Given the description of an element on the screen output the (x, y) to click on. 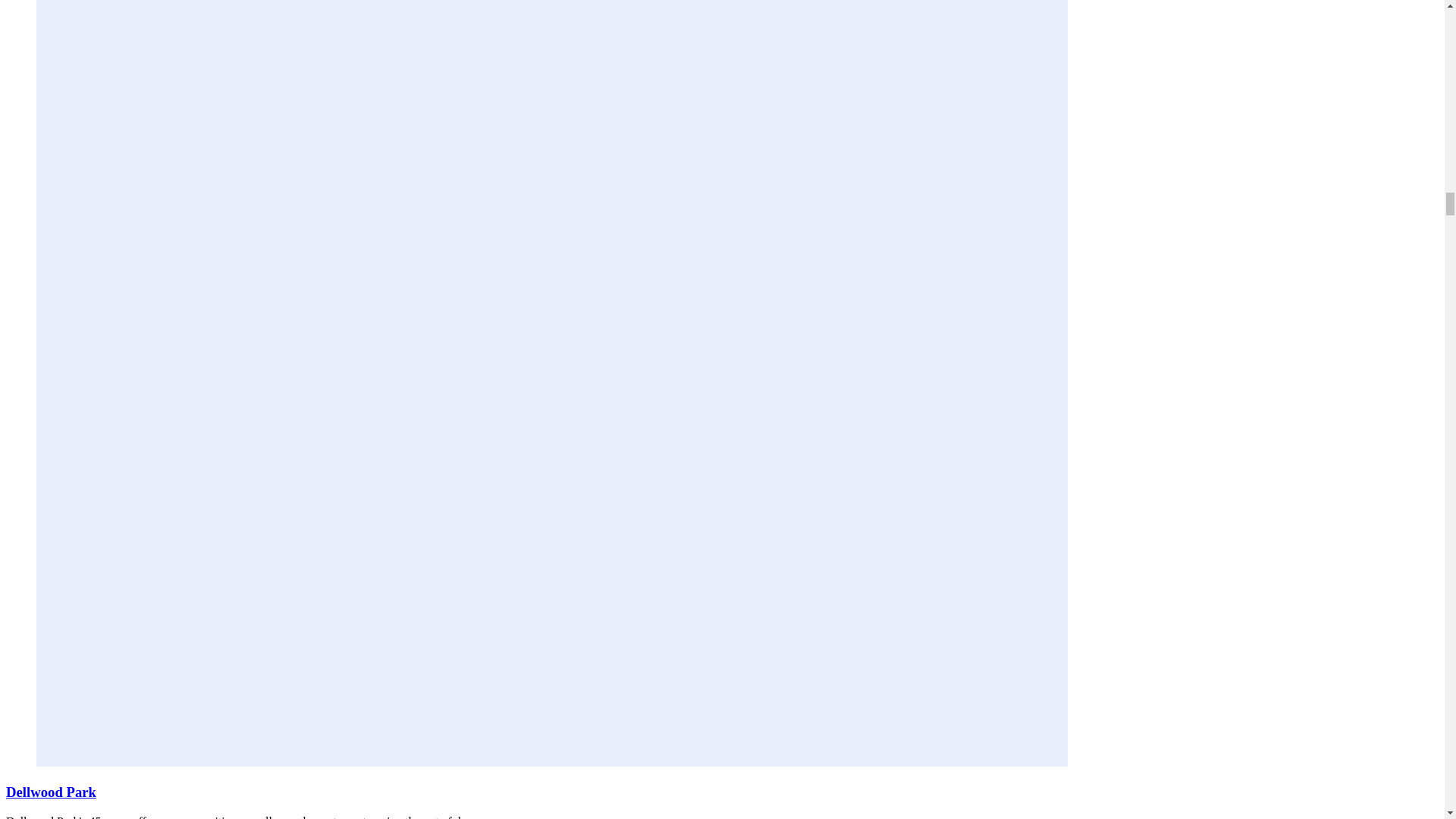
Dellwood Park (50, 791)
